Given the description of an element on the screen output the (x, y) to click on. 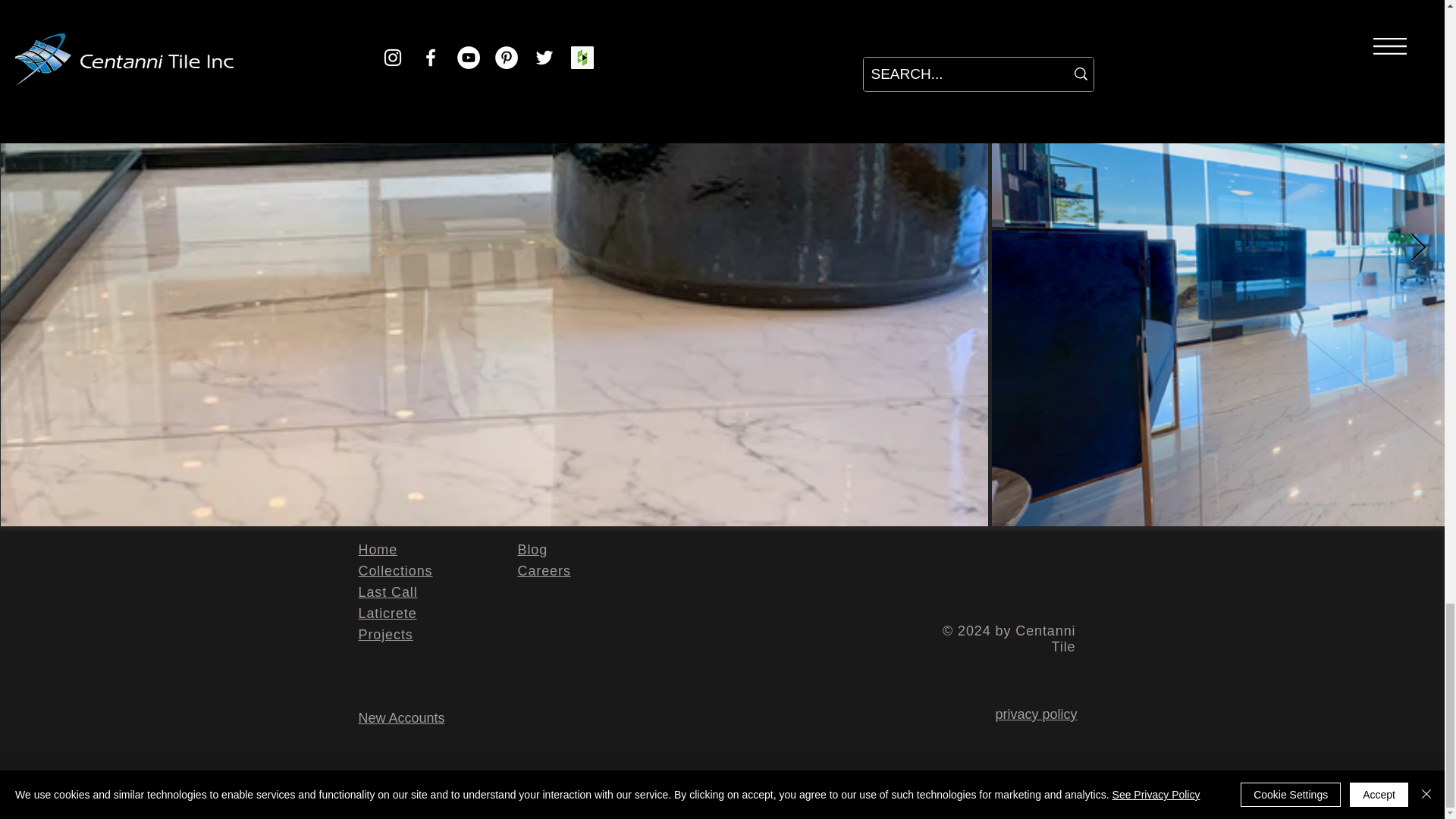
Blog (531, 549)
New Accounts (401, 717)
Collections (395, 570)
privacy policy (1035, 713)
Careers (543, 570)
Laticrete (387, 613)
Do Not Sell My Personal Information (970, 793)
Home (377, 549)
Projects (385, 634)
Last Call (387, 591)
